Given the description of an element on the screen output the (x, y) to click on. 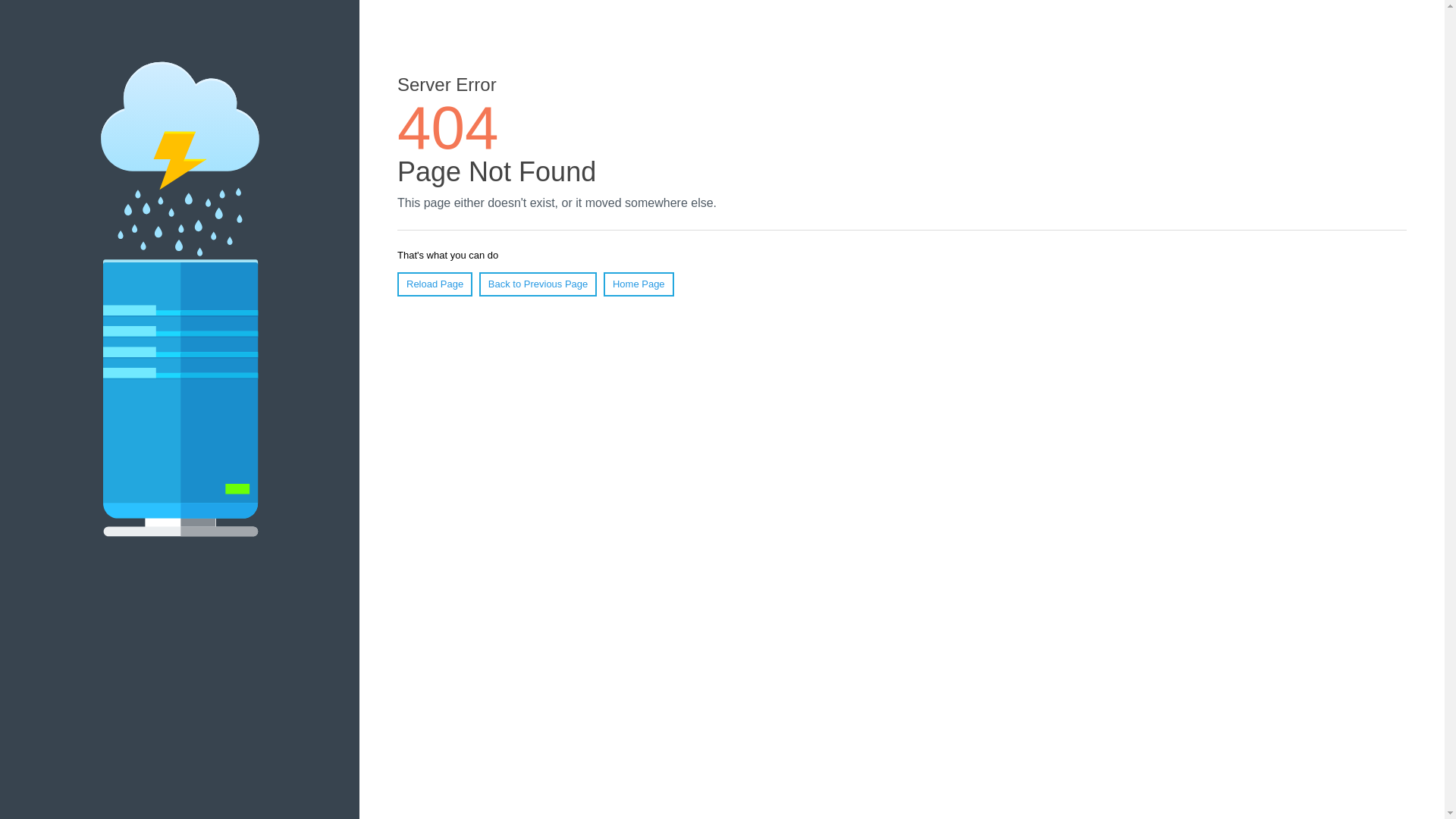
Reload Page Element type: text (434, 284)
Back to Previous Page Element type: text (538, 284)
Home Page Element type: text (638, 284)
